Given the description of an element on the screen output the (x, y) to click on. 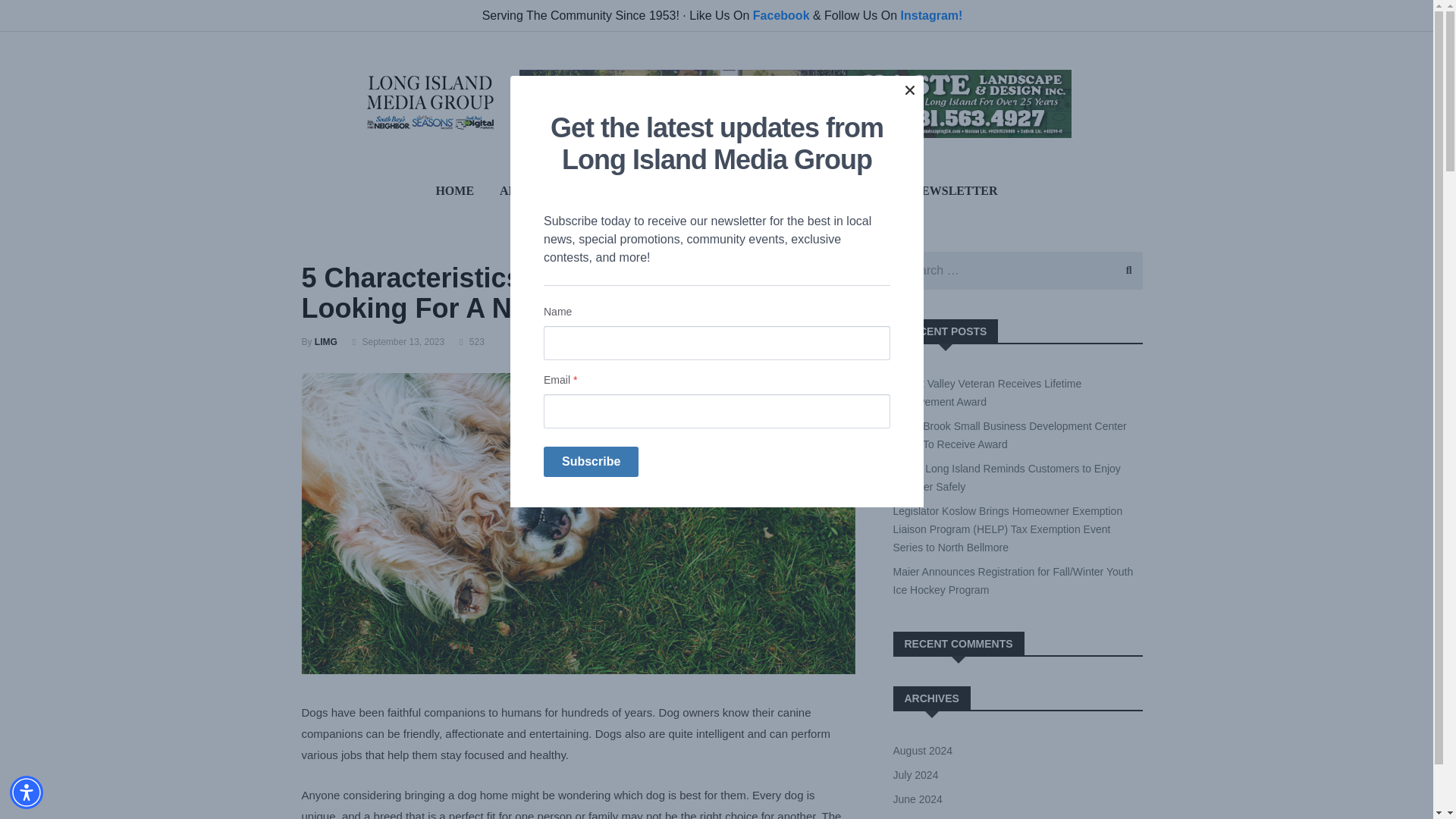
ABOUT (520, 190)
Facebook (780, 15)
HOME (453, 190)
Accessibility Menu (26, 792)
Instagram! (931, 15)
ENTER TO WIN (842, 190)
NEWSLETTER (955, 190)
ONLINE EDITIONS (715, 190)
LIMG (325, 341)
MEDIA KIT (601, 190)
